Given the description of an element on the screen output the (x, y) to click on. 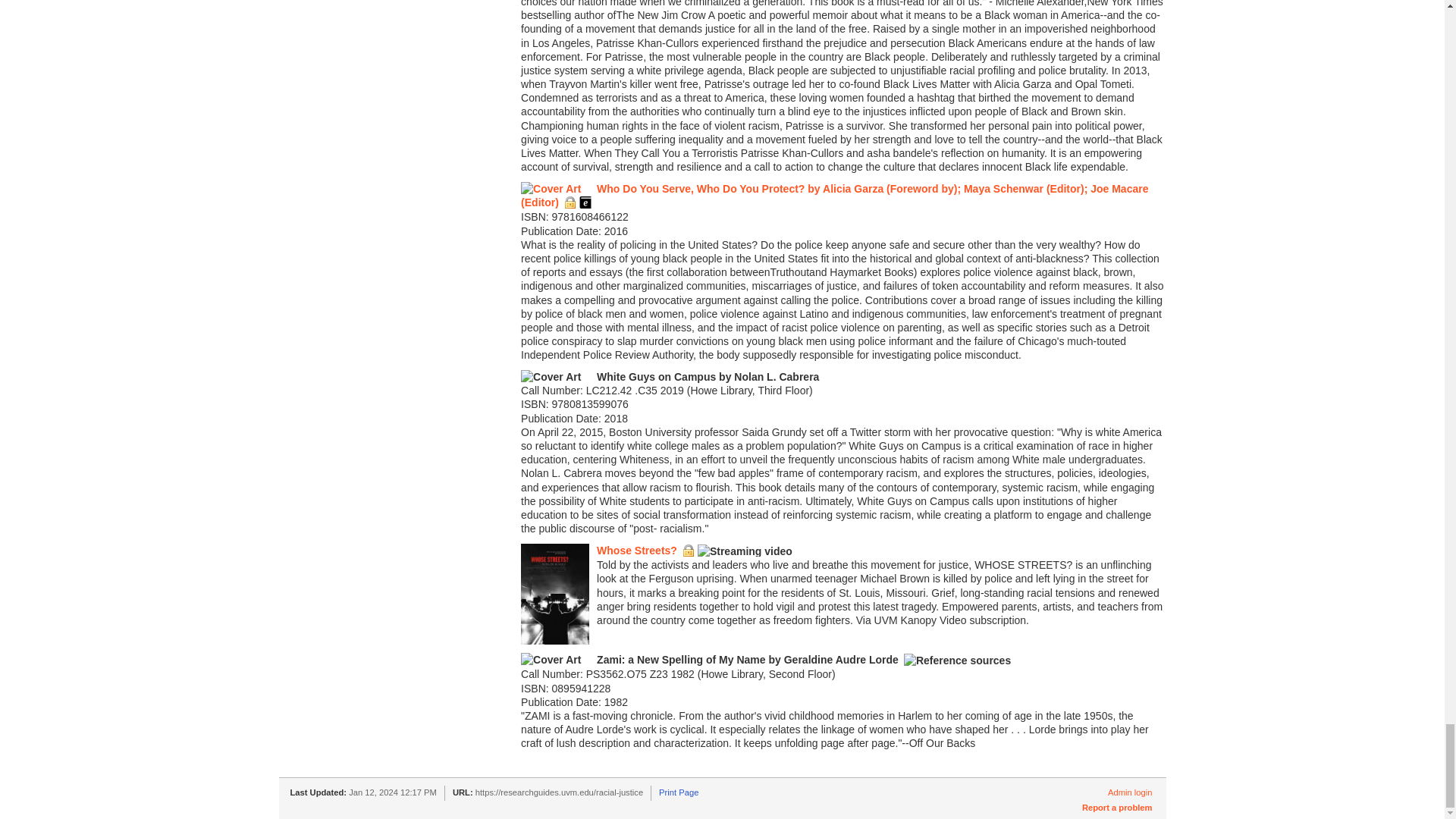
Print Page (678, 791)
Whose Streets? (636, 550)
Report a problem (1117, 807)
Admin login (1129, 791)
